Given the description of an element on the screen output the (x, y) to click on. 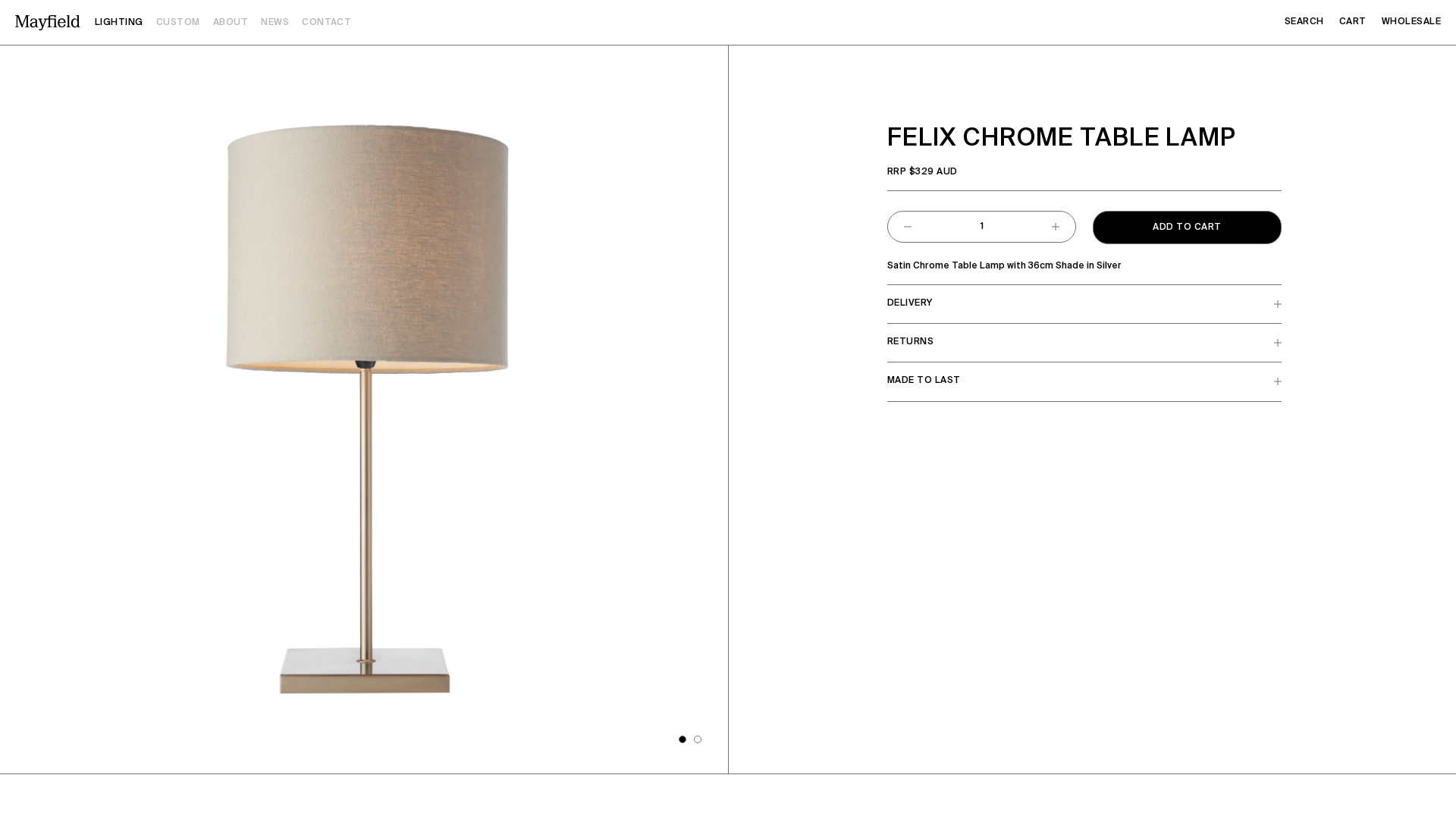
NEWS Element type: text (274, 22)
CONTACT Element type: text (326, 22)
SEARCH Element type: text (1304, 21)
Qty Element type: hover (981, 226)
ABOUT Element type: text (230, 22)
CART Element type: text (1352, 21)
LIGHTING Element type: text (118, 22)
WHOLESALE Element type: text (1410, 21)
0233_1 Element type: hover (364, 409)
CUSTOM Element type: text (178, 22)
ADD TO CART Element type: text (1186, 227)
